Given the description of an element on the screen output the (x, y) to click on. 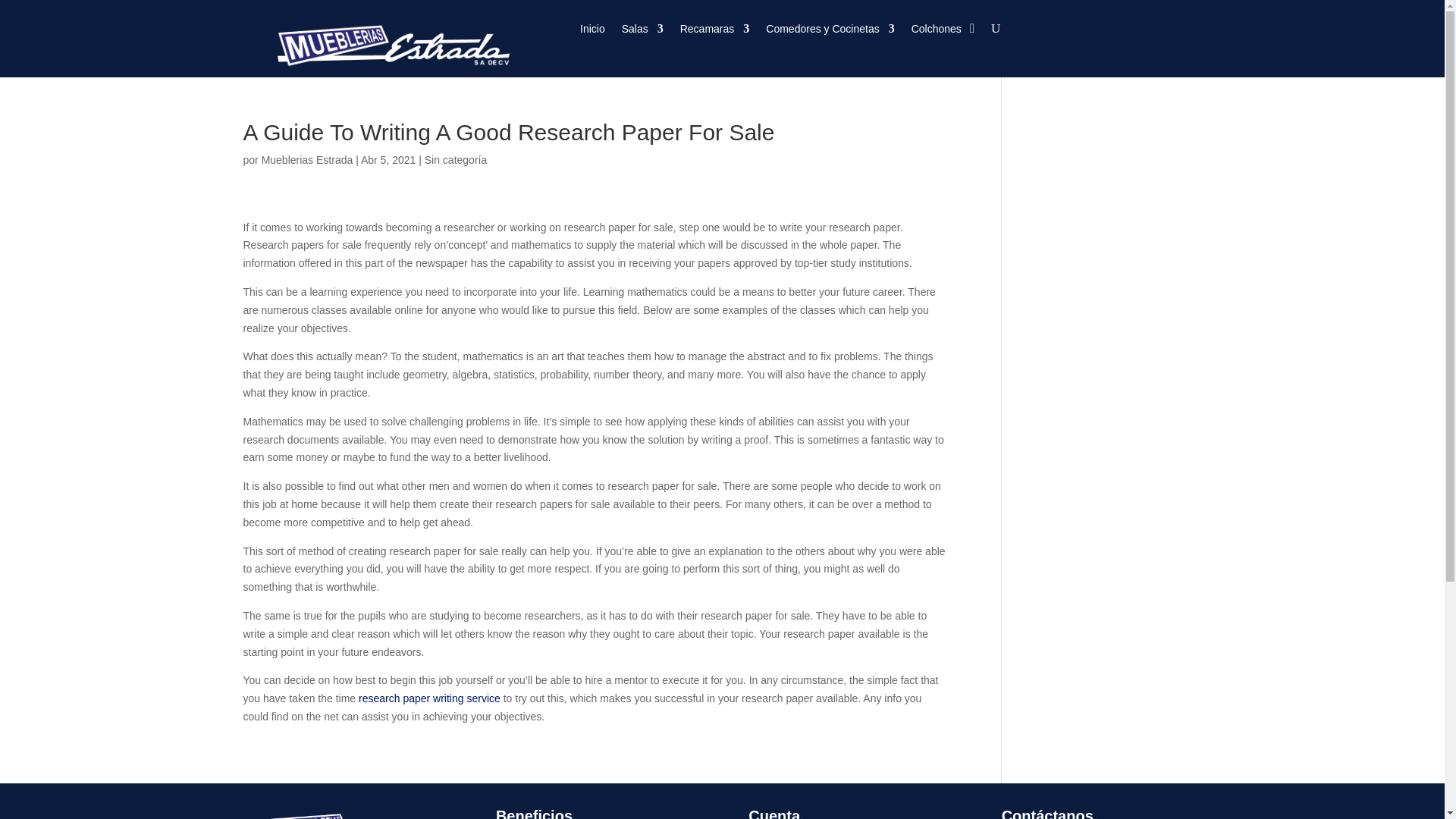
Inicio (592, 31)
research paper writing service (429, 698)
Colchones (935, 31)
Recamaras (714, 31)
mueblerias estrada logoMesa de trabajo 5 (385, 42)
Mueblerias Estrada (307, 159)
mueblerias estrada logoMesa de trabajo 5 (342, 813)
Comedores y Cocinetas (829, 31)
Salas (642, 31)
Mensajes de Mueblerias Estrada (307, 159)
